Given the description of an element on the screen output the (x, y) to click on. 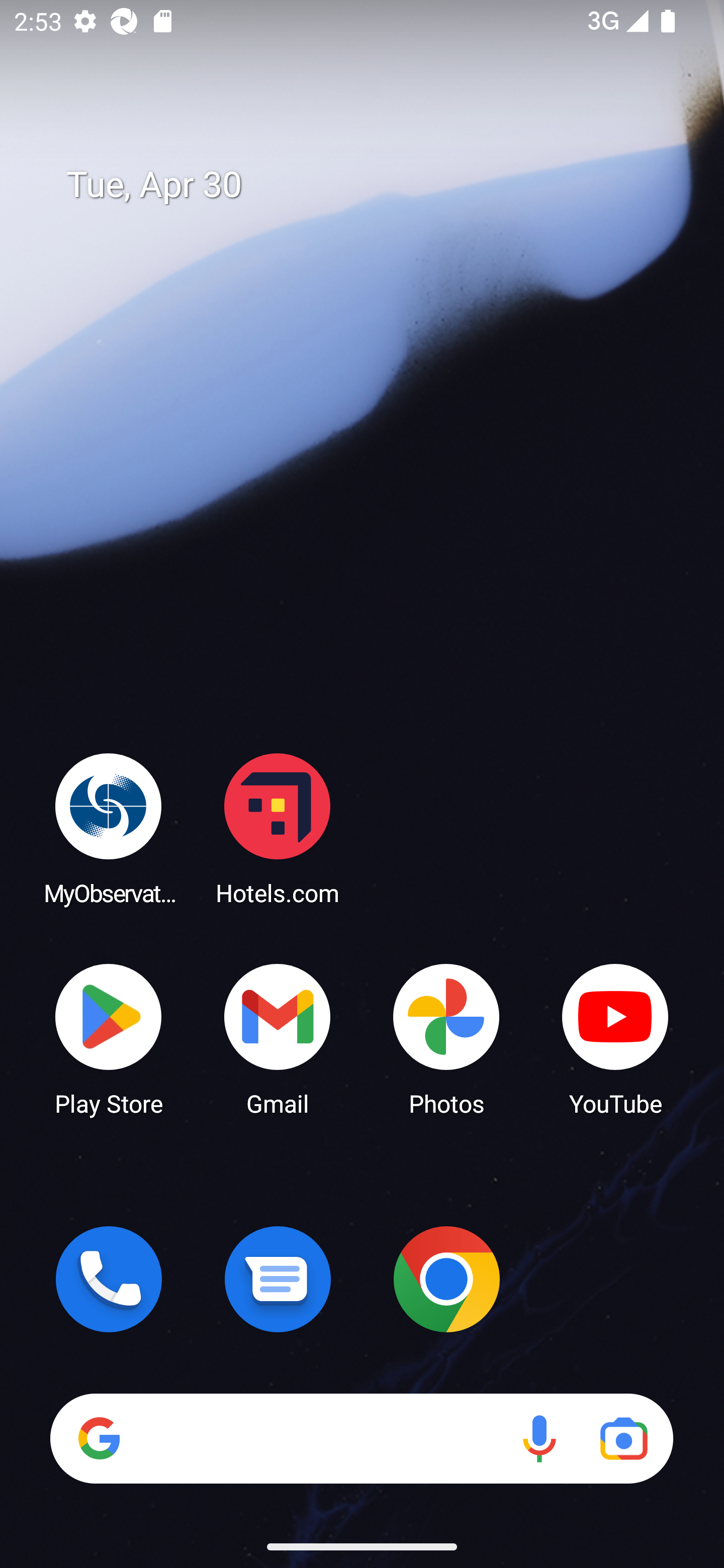
Tue, Apr 30 (375, 184)
MyObservatory (108, 828)
Hotels.com (277, 828)
Play Store (108, 1038)
Gmail (277, 1038)
Photos (445, 1038)
YouTube (615, 1038)
Phone (108, 1279)
Messages (277, 1279)
Chrome (446, 1279)
Search Voice search Google Lens (361, 1438)
Voice search (539, 1438)
Google Lens (623, 1438)
